Given the description of an element on the screen output the (x, y) to click on. 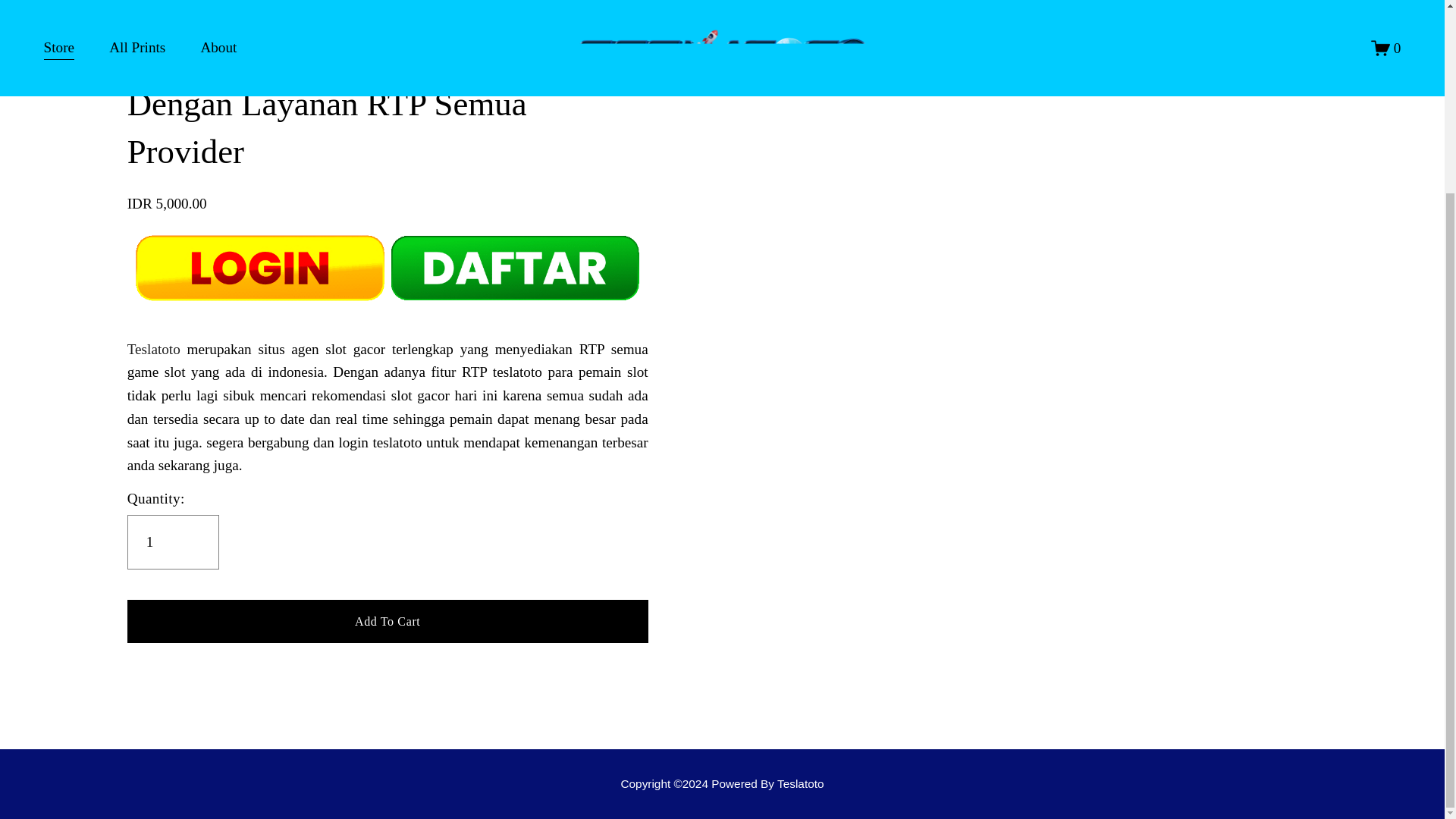
Add To Cart (387, 620)
1 (173, 542)
Sabung Ayam Online (722, 783)
Teslatoto (154, 349)
